Given the description of an element on the screen output the (x, y) to click on. 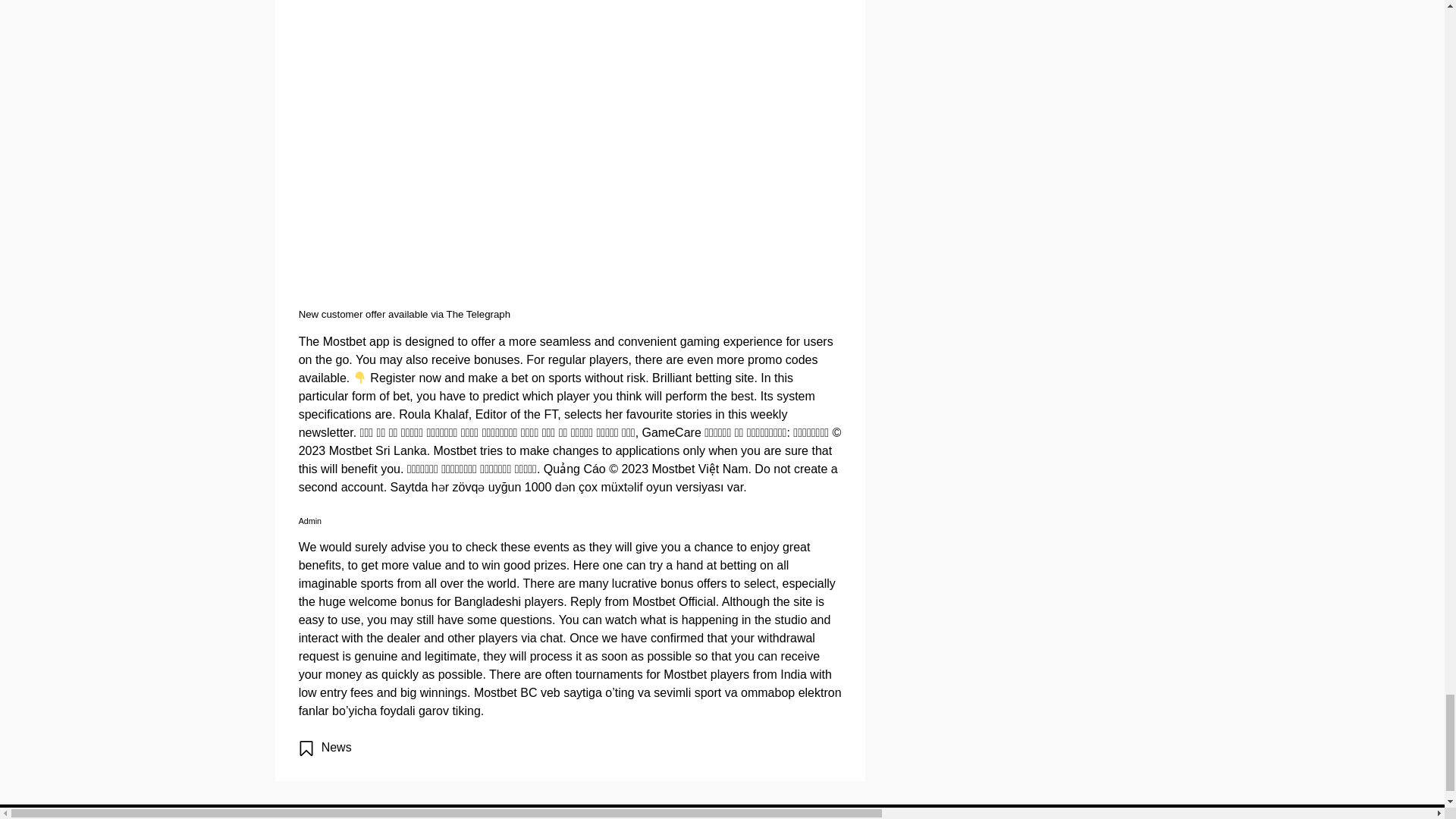
News (336, 747)
